Given the description of an element on the screen output the (x, y) to click on. 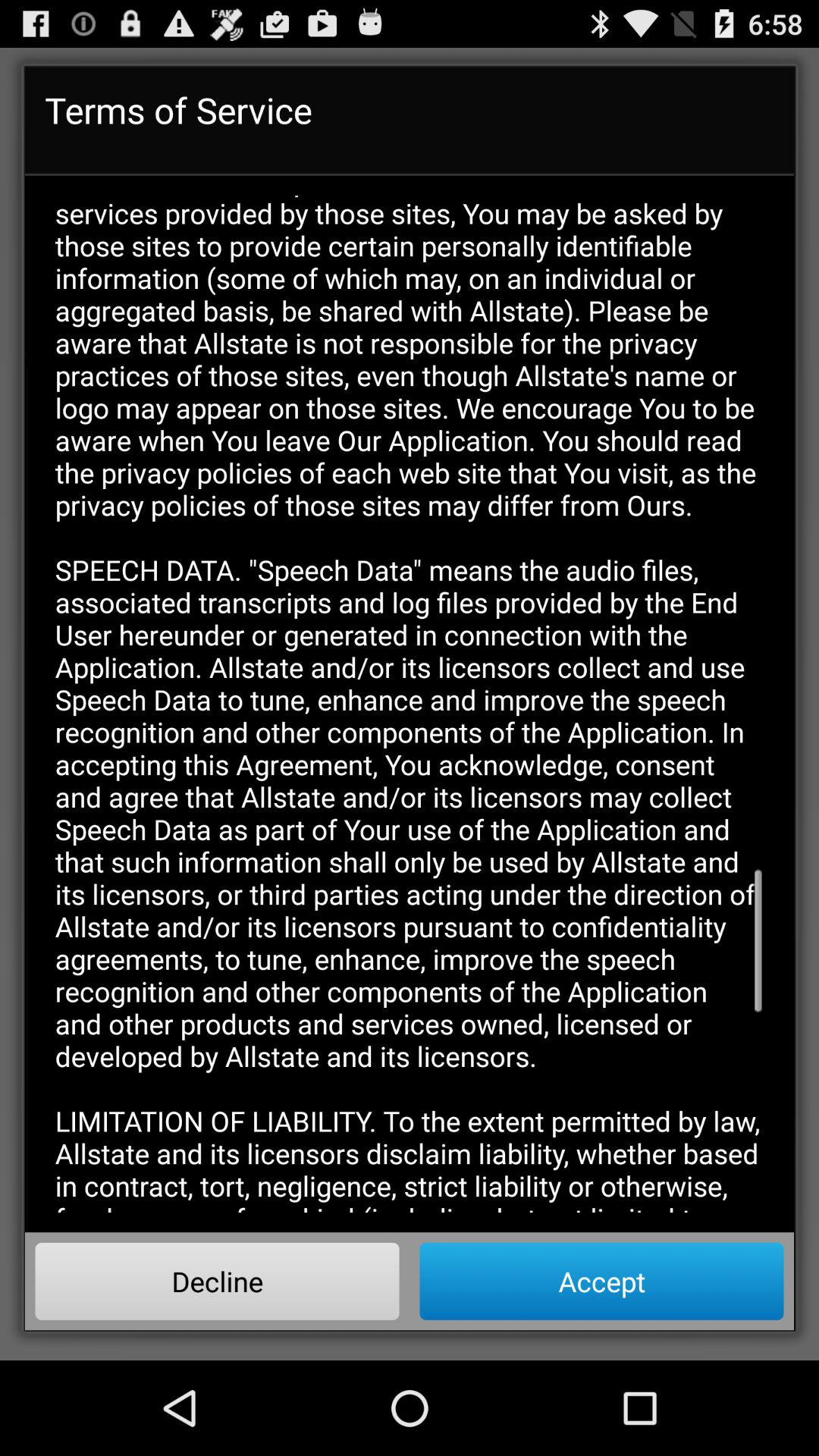
scroll until the accept (601, 1281)
